Given the description of an element on the screen output the (x, y) to click on. 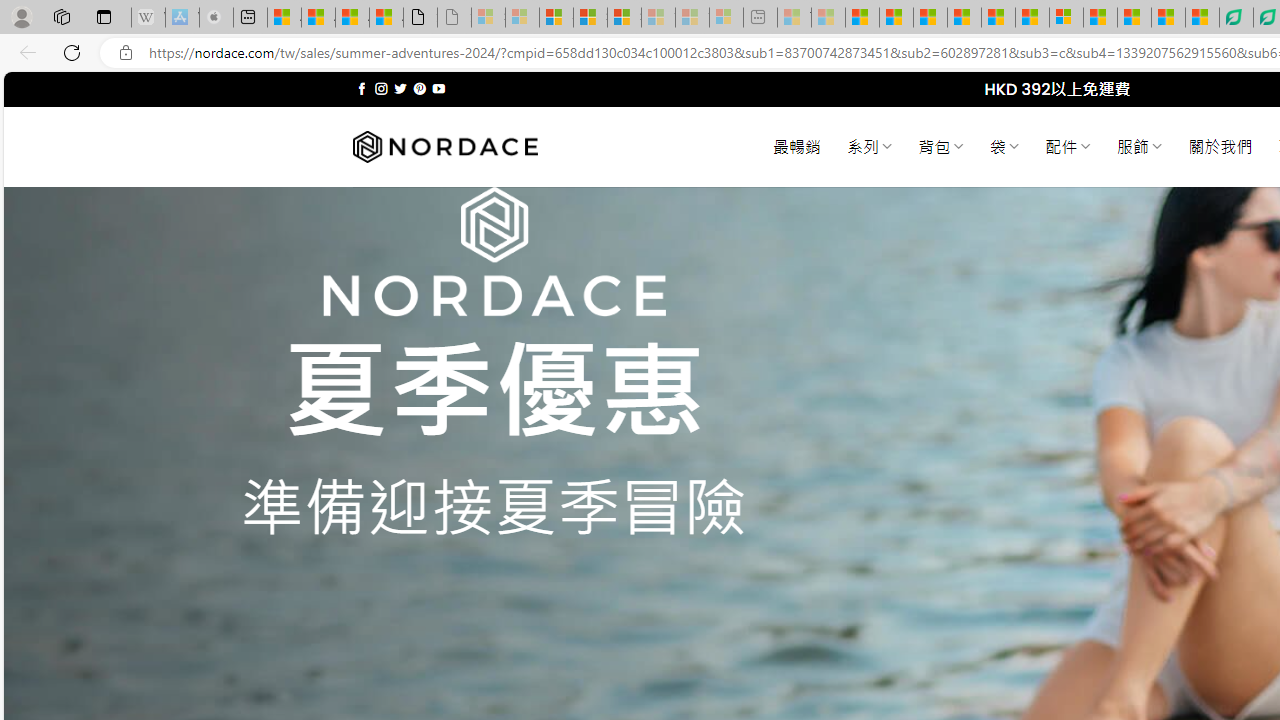
Follow on Facebook (361, 88)
Foo BAR | Trusted Community Engagement and Contributions (1032, 17)
Sign in to your Microsoft account - Sleeping (488, 17)
Follow on Twitter (400, 88)
Aberdeen, Hong Kong SAR weather forecast | Microsoft Weather (318, 17)
Microsoft account | Account Checkup - Sleeping (726, 17)
New tab - Sleeping (759, 17)
Drinking tea every day is proven to delay biological aging (964, 17)
Top Stories - MSN - Sleeping (794, 17)
Food and Drink - MSN (895, 17)
